Given the description of an element on the screen output the (x, y) to click on. 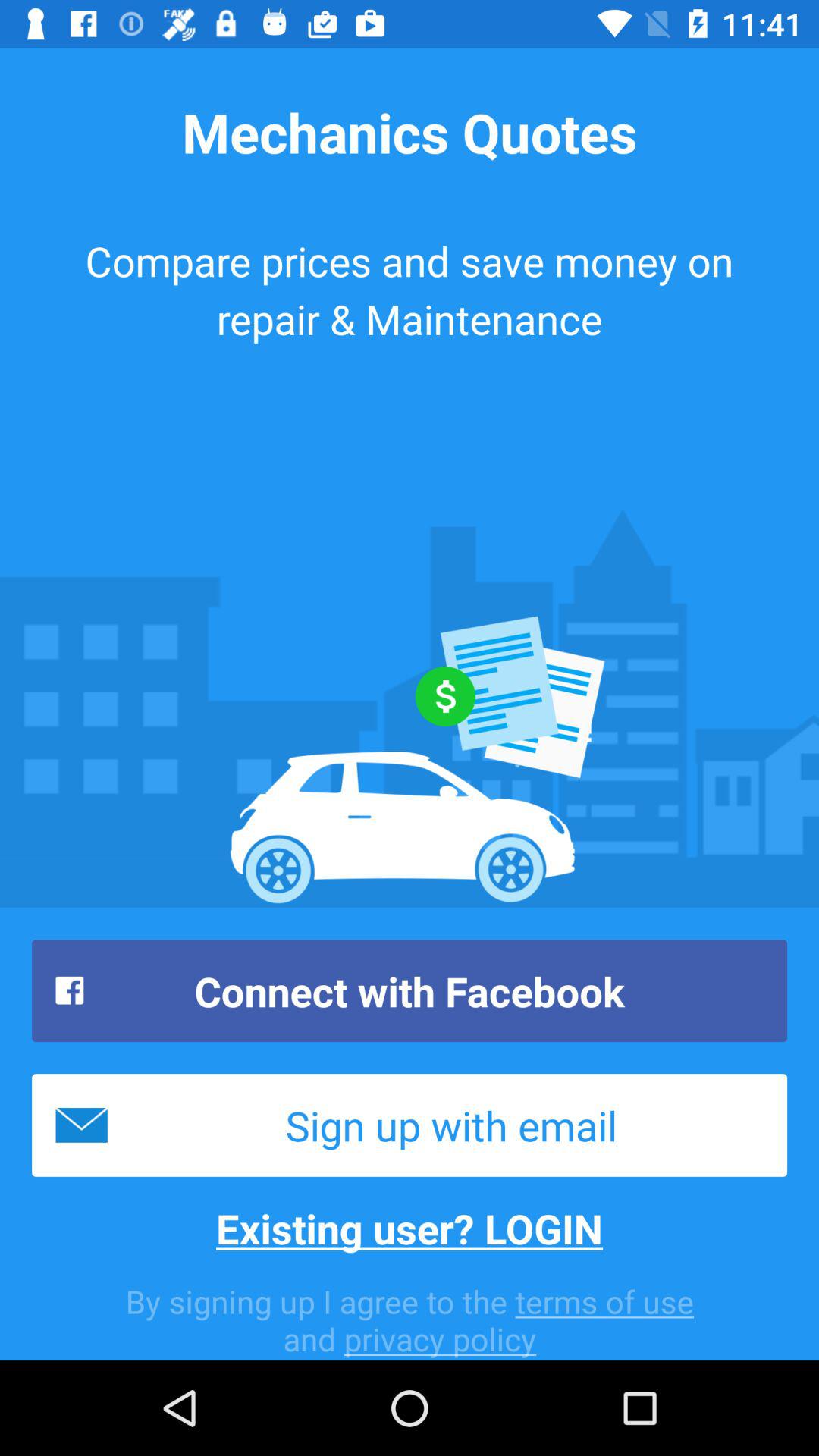
turn on the connect with facebook icon (409, 990)
